Given the description of an element on the screen output the (x, y) to click on. 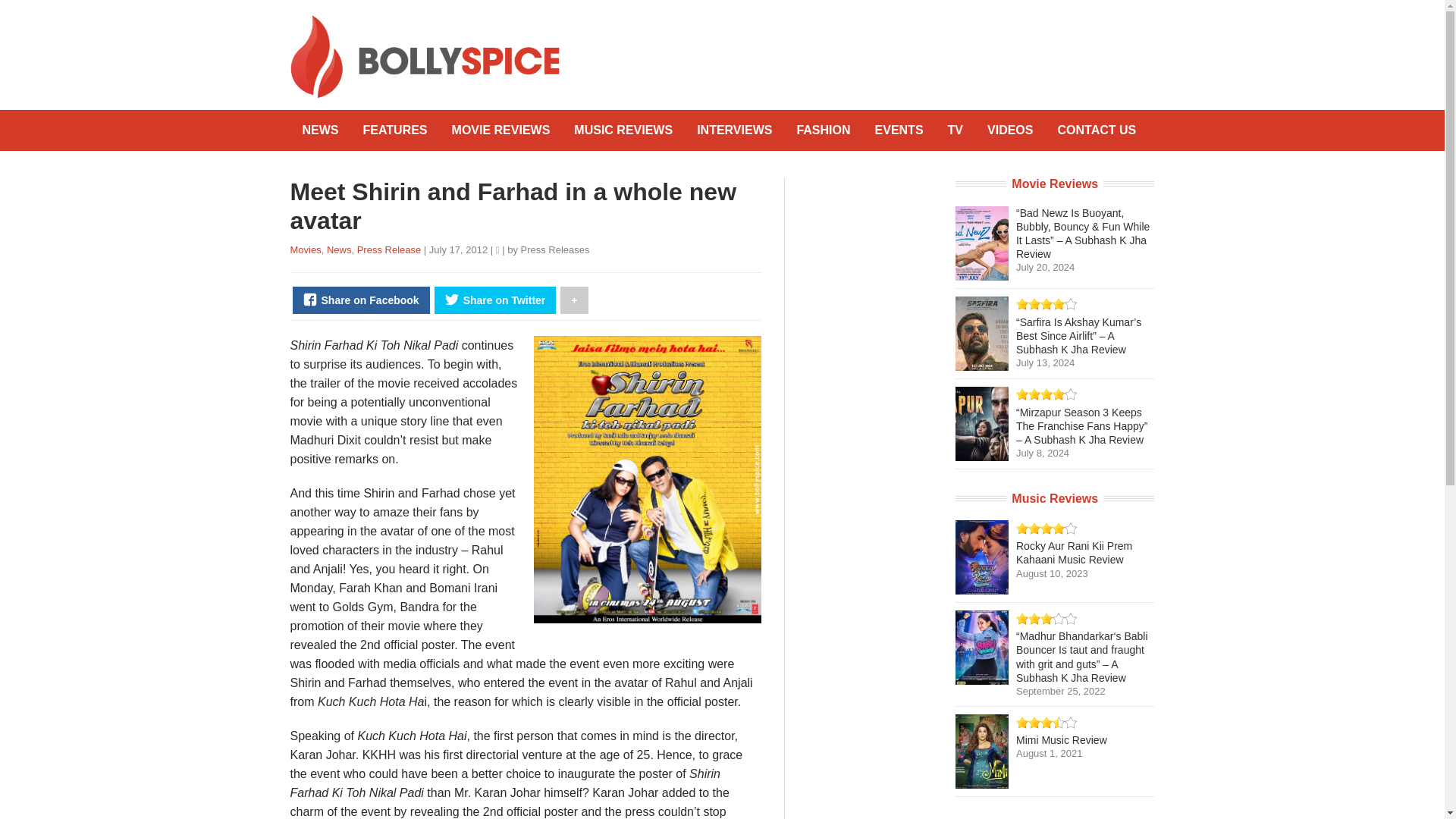
VIDEOS (1010, 130)
July 8, 2024 (1042, 452)
July 13, 2024 (1045, 362)
Press Releases (555, 249)
Press Release (389, 249)
July 17, 2012 (459, 249)
Rocky Aur Rani Kii Prem Kahaani Music Review (1074, 552)
Advertisement (878, 49)
NEWS (319, 130)
MUSIC REVIEWS (623, 130)
July 20, 2024 (1045, 266)
MOVIE REVIEWS (500, 130)
August 10, 2023 (1051, 573)
FASHION (822, 130)
CONTACT US (1096, 130)
